Given the description of an element on the screen output the (x, y) to click on. 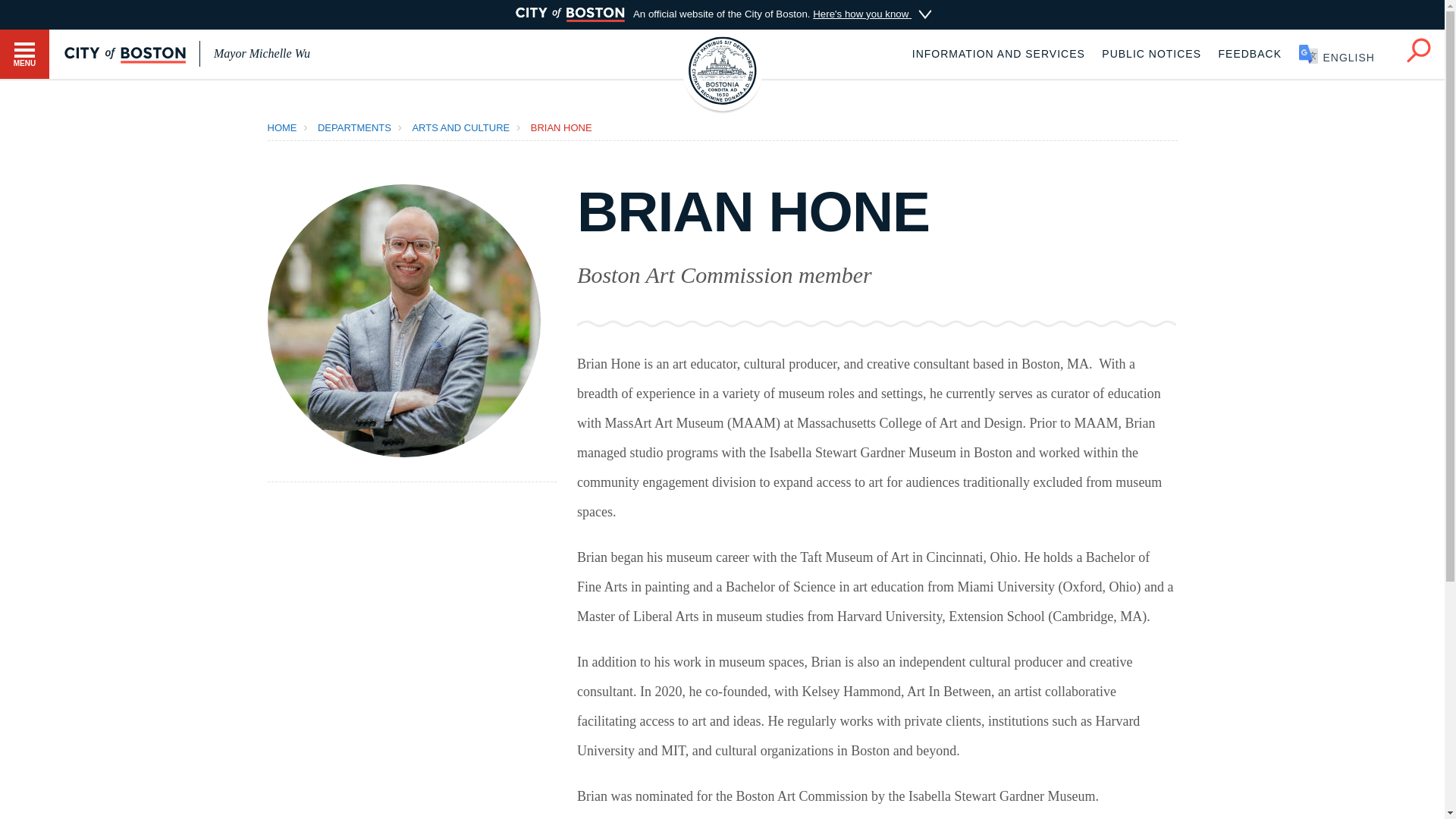
SEARCH (1418, 50)
INFORMATION AND SERVICES (998, 53)
PUBLIC NOTICES (1151, 53)
ENGLISH (1343, 53)
FEEDBACK (1249, 53)
Translate (1343, 53)
Mayor Michelle Wu (262, 52)
Search (1418, 46)
